Given the description of an element on the screen output the (x, y) to click on. 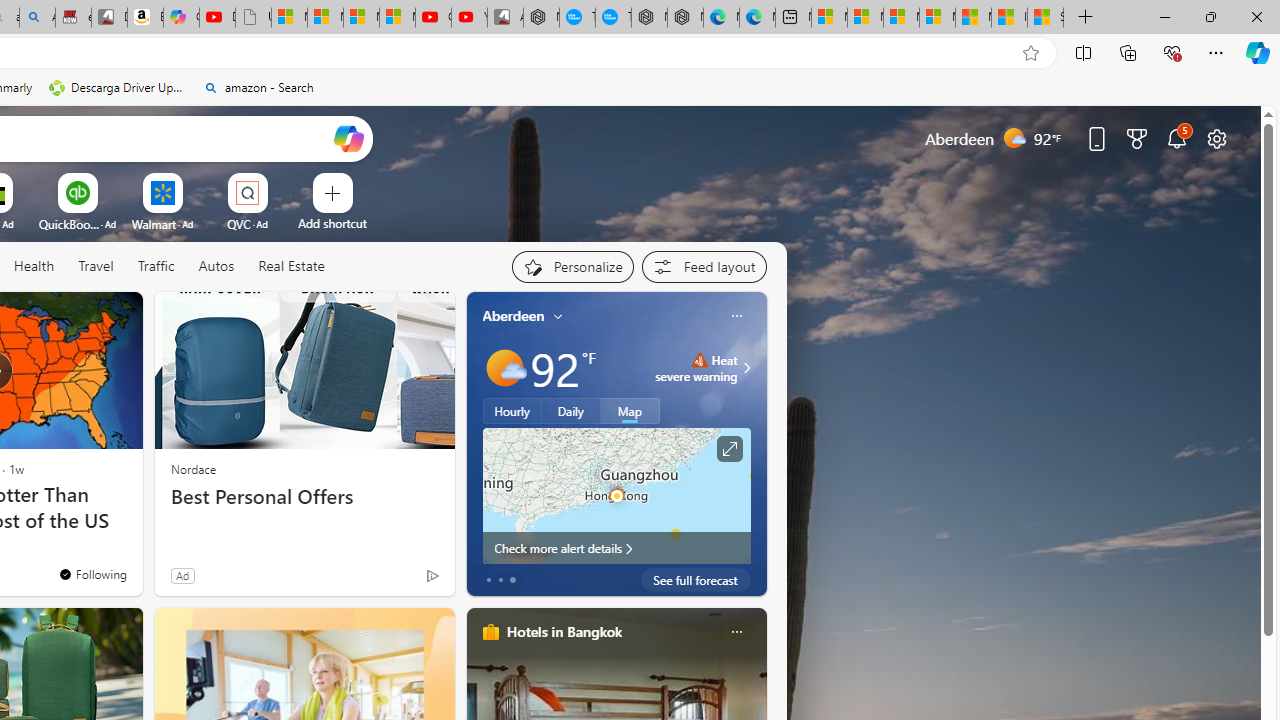
Add this page to favorites (Ctrl+D) (1030, 53)
Microsoft account | Microsoft Account Privacy Settings (865, 17)
Click to see more information (728, 449)
Map (630, 411)
Microsoft Start (973, 17)
All Cubot phones (505, 17)
Notifications (1176, 138)
Heat - Severe (699, 359)
tab-0 (488, 579)
Class: icon-img (736, 632)
Check more alert details (616, 547)
Untitled (253, 17)
Page settings (1216, 138)
